Given the description of an element on the screen output the (x, y) to click on. 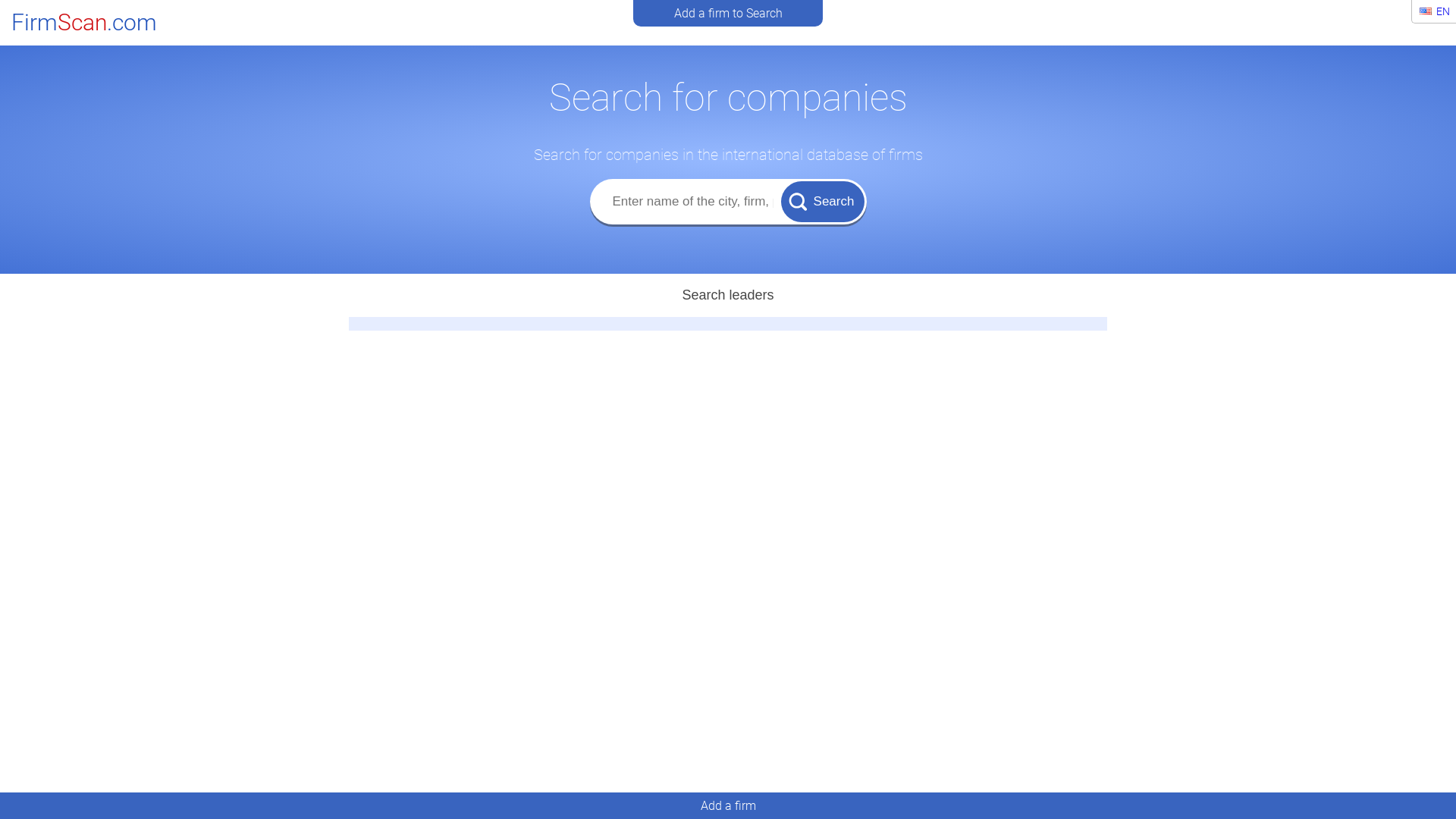
Search Element type: text (822, 200)
EN Element type: text (1434, 11)
